Given the description of an element on the screen output the (x, y) to click on. 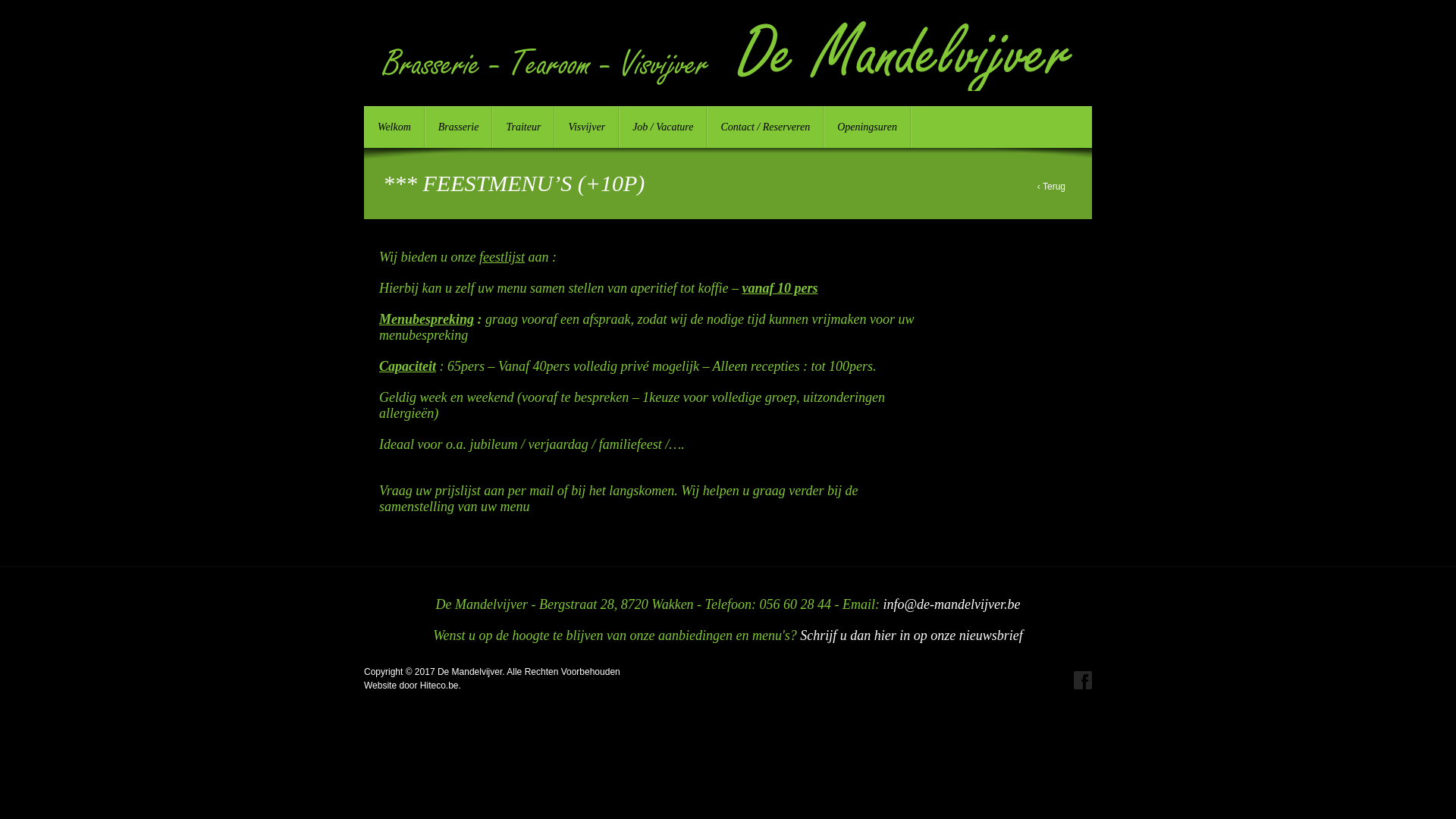
Welkom Element type: text (394, 126)
De Mandelvijver Element type: hover (728, 106)
Traiteur Element type: text (523, 126)
Job / Vacature Element type: text (662, 126)
Contact / Reserveren Element type: text (764, 126)
De Mandelvijver Element type: text (469, 671)
Brasserie Element type: text (458, 126)
Openingsuren Element type: text (866, 126)
Schrijf u dan hier in op onze nieuwsbrief Element type: text (911, 635)
Visvijver Element type: text (586, 126)
info@de-mandelvijver.be Element type: text (950, 603)
Hiteco.be Element type: text (439, 685)
Facebook Element type: hover (1082, 680)
